Given the description of an element on the screen output the (x, y) to click on. 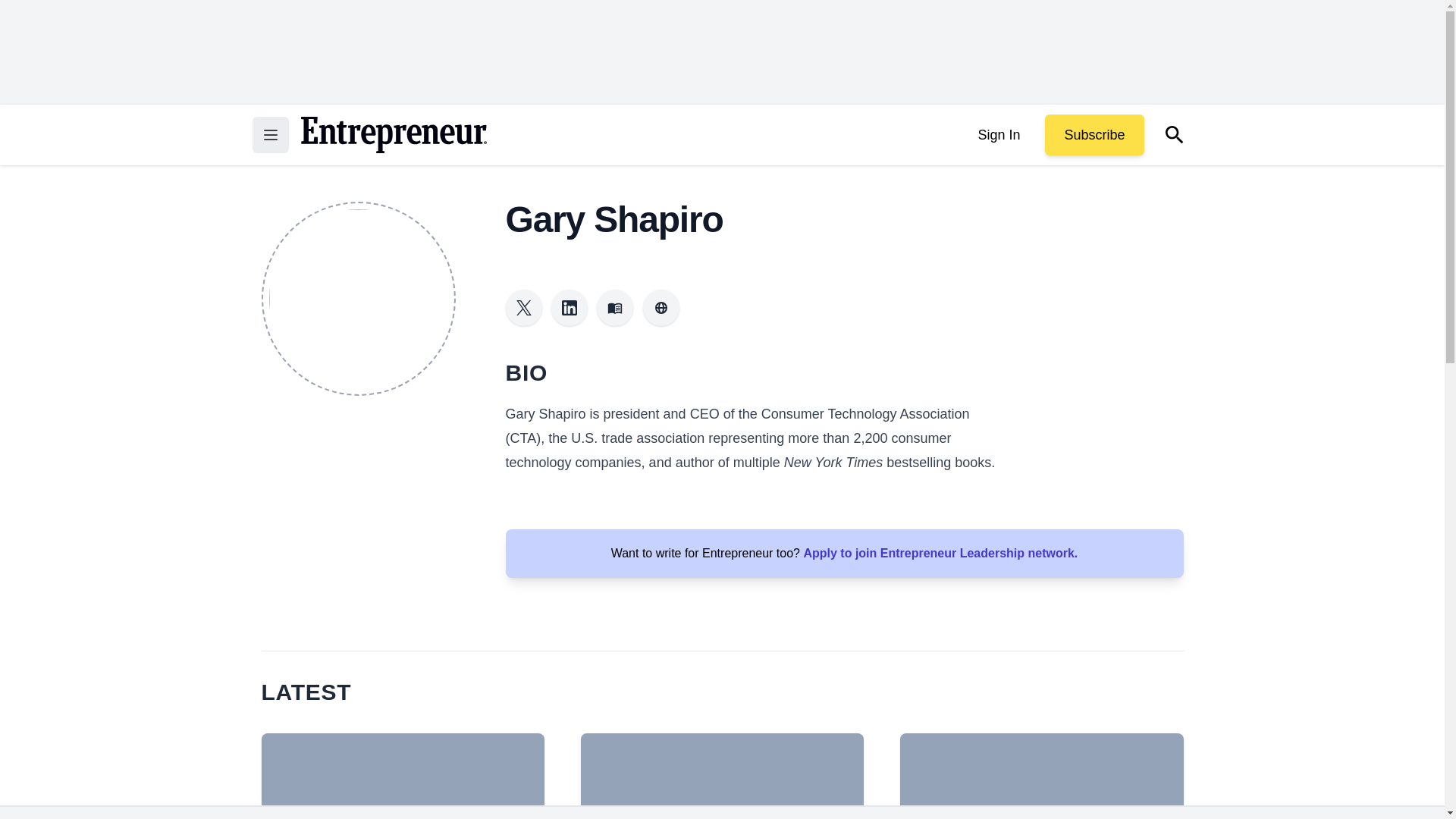
Subscribe (1093, 134)
linkedin (569, 307)
Sign In (998, 134)
twitter (523, 307)
book (614, 307)
Return to the home page (392, 135)
website (661, 307)
